Given the description of an element on the screen output the (x, y) to click on. 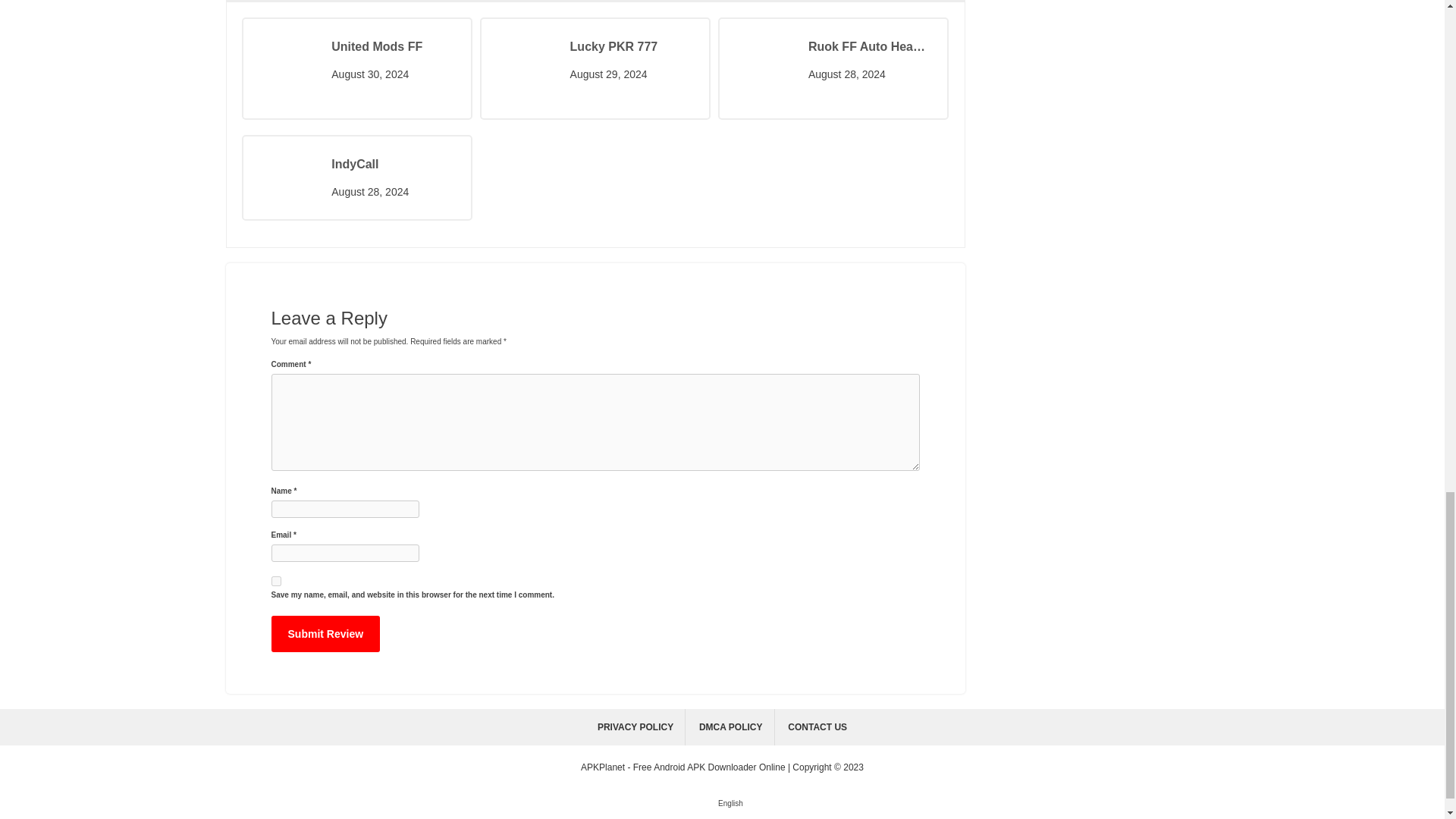
yes (275, 581)
Ruok FF Auto Headshot Injector (870, 46)
Submit Review (325, 633)
PRIVACY POLICY (635, 727)
IndyCall (393, 164)
United Mods FF (393, 46)
DMCA POLICY (730, 727)
CONTACT US (817, 727)
Lucky PKR 777 (632, 46)
Submit Review (325, 633)
